Given the description of an element on the screen output the (x, y) to click on. 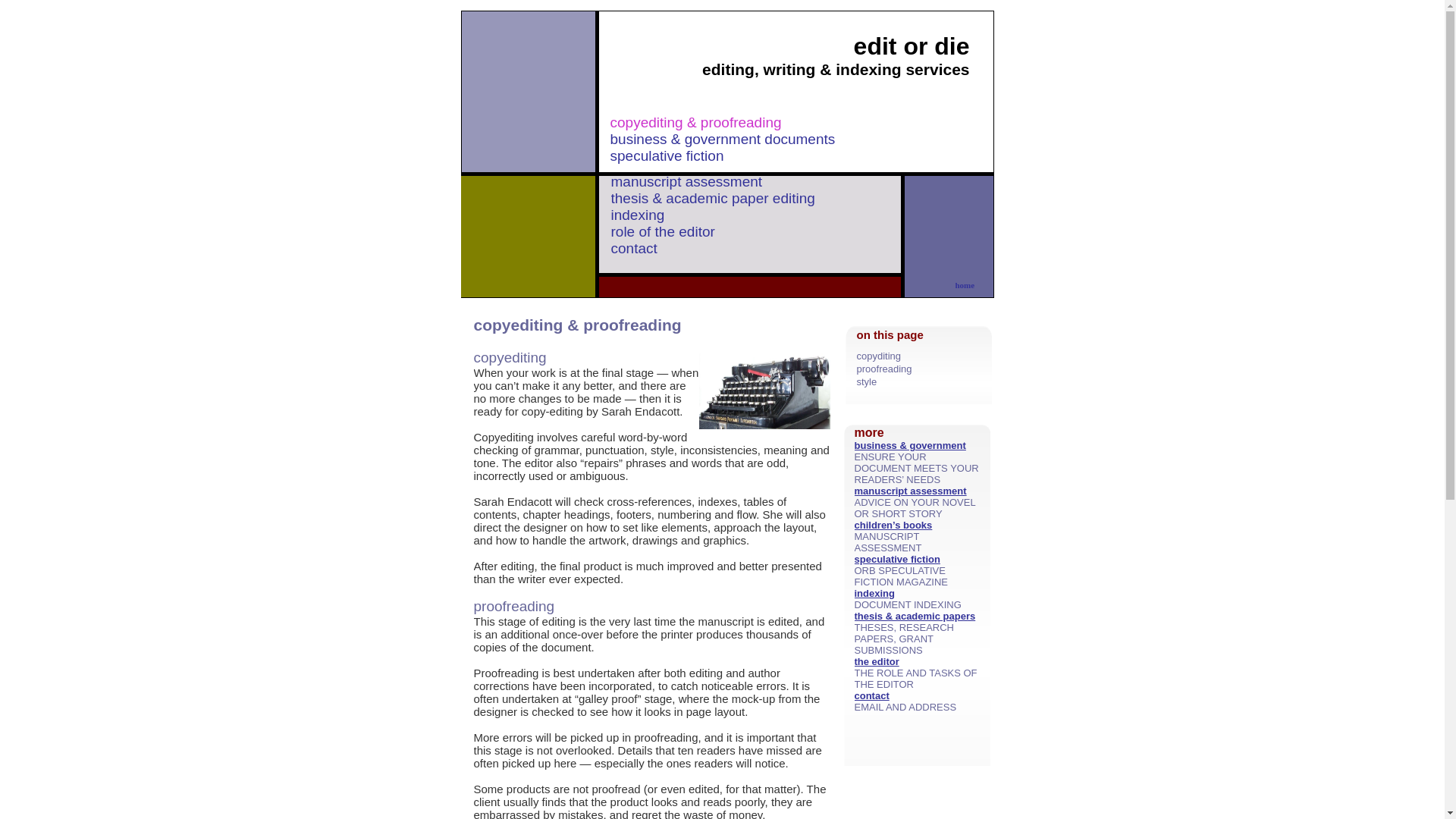
home Element type: text (965, 284)
thesis & academic papers Element type: text (914, 615)
contact Element type: text (870, 695)
business & government Element type: text (909, 445)
contact Element type: text (634, 248)
thesis & academic paper editing Element type: text (713, 198)
role of the editor Element type: text (663, 231)
copyediting & proofreading Element type: text (695, 122)
speculative fiction  Element type: text (668, 155)
indexing Element type: text (638, 214)
indexing Element type: text (873, 593)
manuscript assessment Element type: text (686, 181)
the editor Element type: text (875, 661)
manuscript assessment Element type: text (909, 490)
Copy-editing and proofreading Element type: hover (764, 391)
speculative fiction Element type: text (896, 558)
business & government documents Element type: text (721, 139)
